Given the description of an element on the screen output the (x, y) to click on. 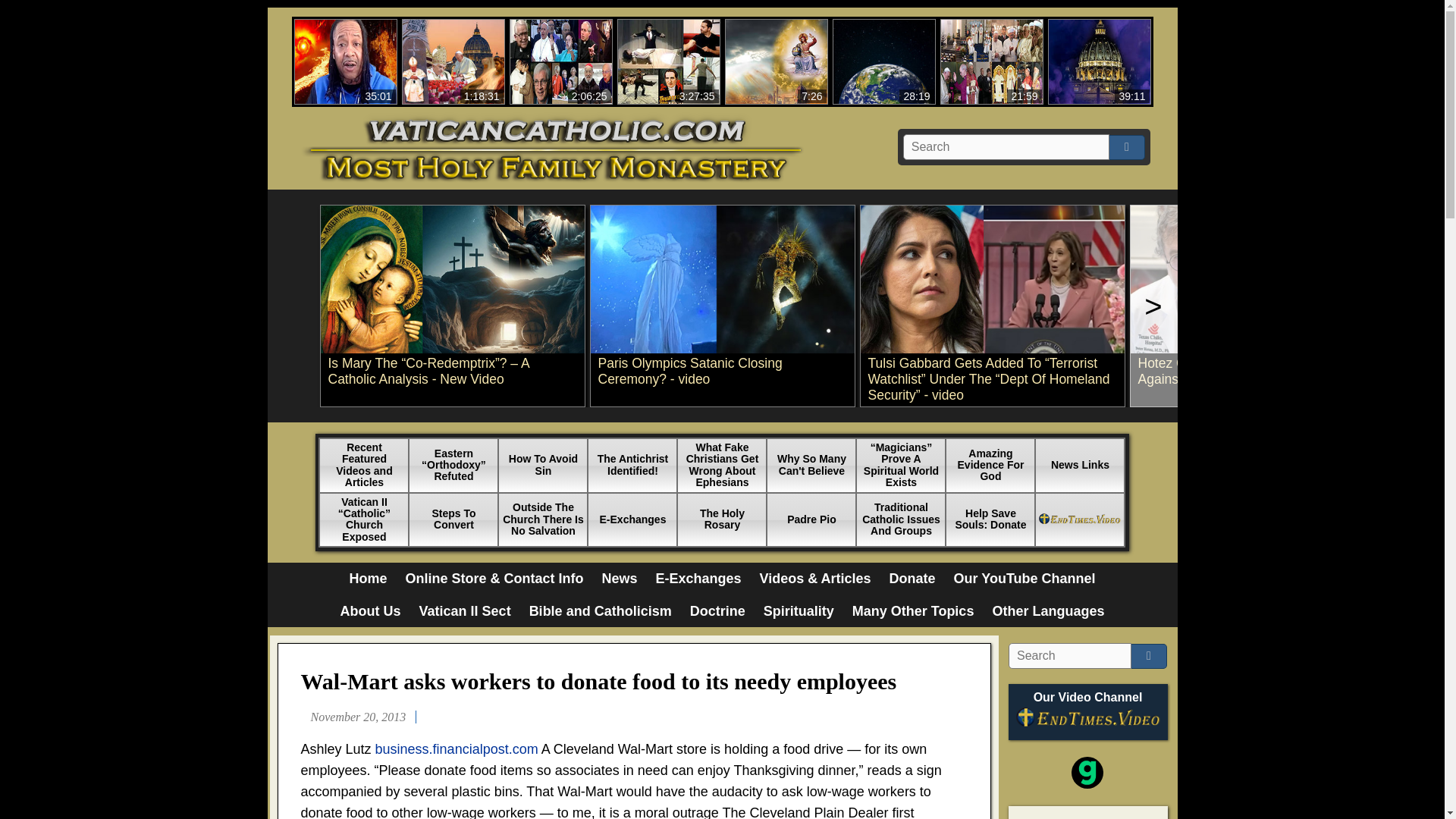
About Us (453, 61)
News (370, 611)
E-Exchanges (619, 578)
Home (697, 578)
Vatican II Sect (367, 578)
